Given the description of an element on the screen output the (x, y) to click on. 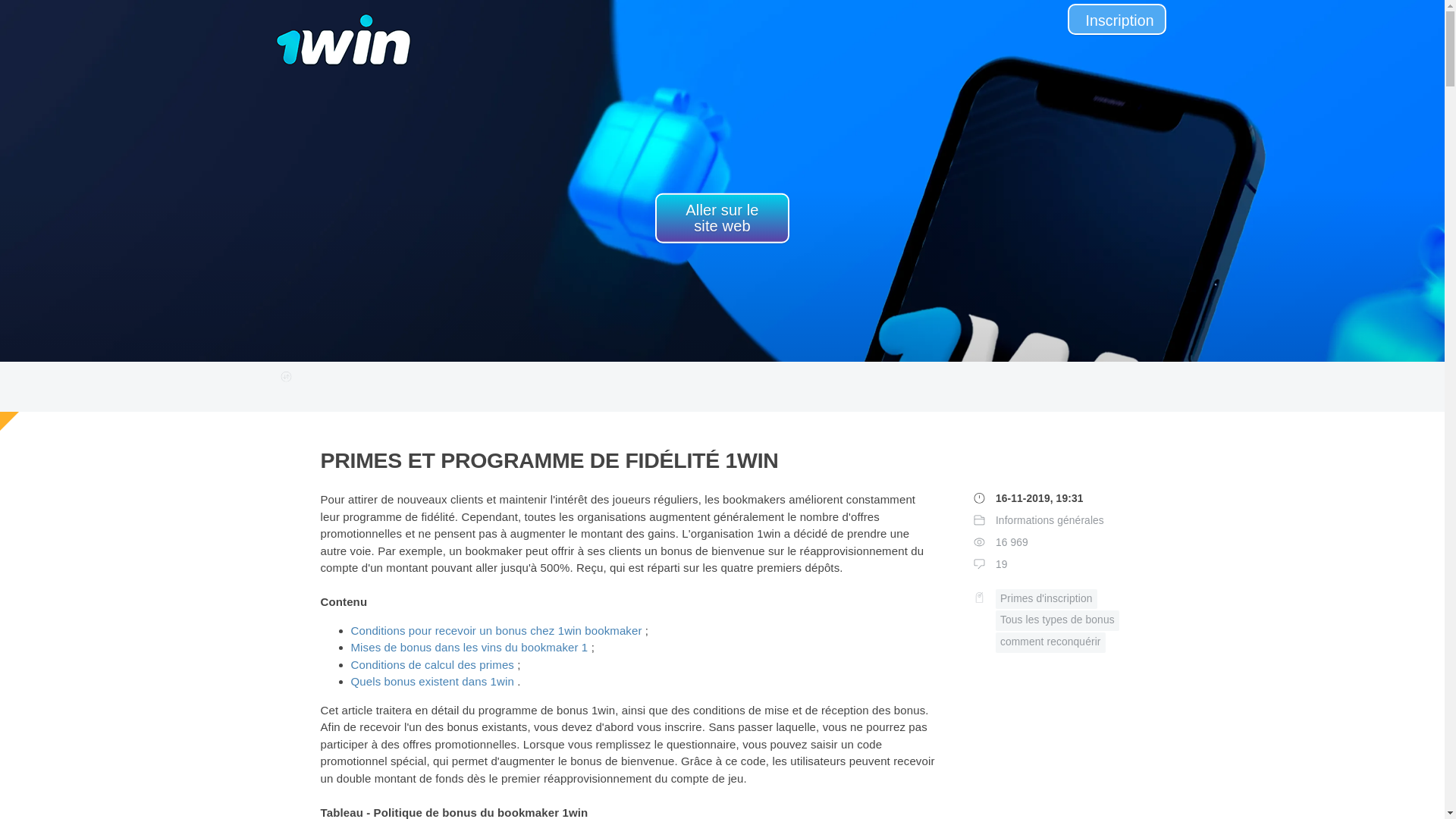
Tous les types de bonus Element type: text (1057, 620)
Conditions de calcul des primes Element type: text (432, 664)
Conditions pour recevoir un bonus chez 1win bookmaker Element type: text (495, 630)
Mises de bonus dans les vins du bookmaker 1 Element type: text (468, 646)
16-11-2019, 19:31 Element type: text (1039, 498)
Inscription Element type: text (1116, 18)
1win - casino et paris sportifs Element type: hover (343, 28)
Aller sur le site web Element type: text (722, 218)
Quels bonus existent dans 1win Element type: text (431, 680)
Primes d'inscription Element type: text (1046, 599)
19 Element type: text (1001, 564)
